Given the description of an element on the screen output the (x, y) to click on. 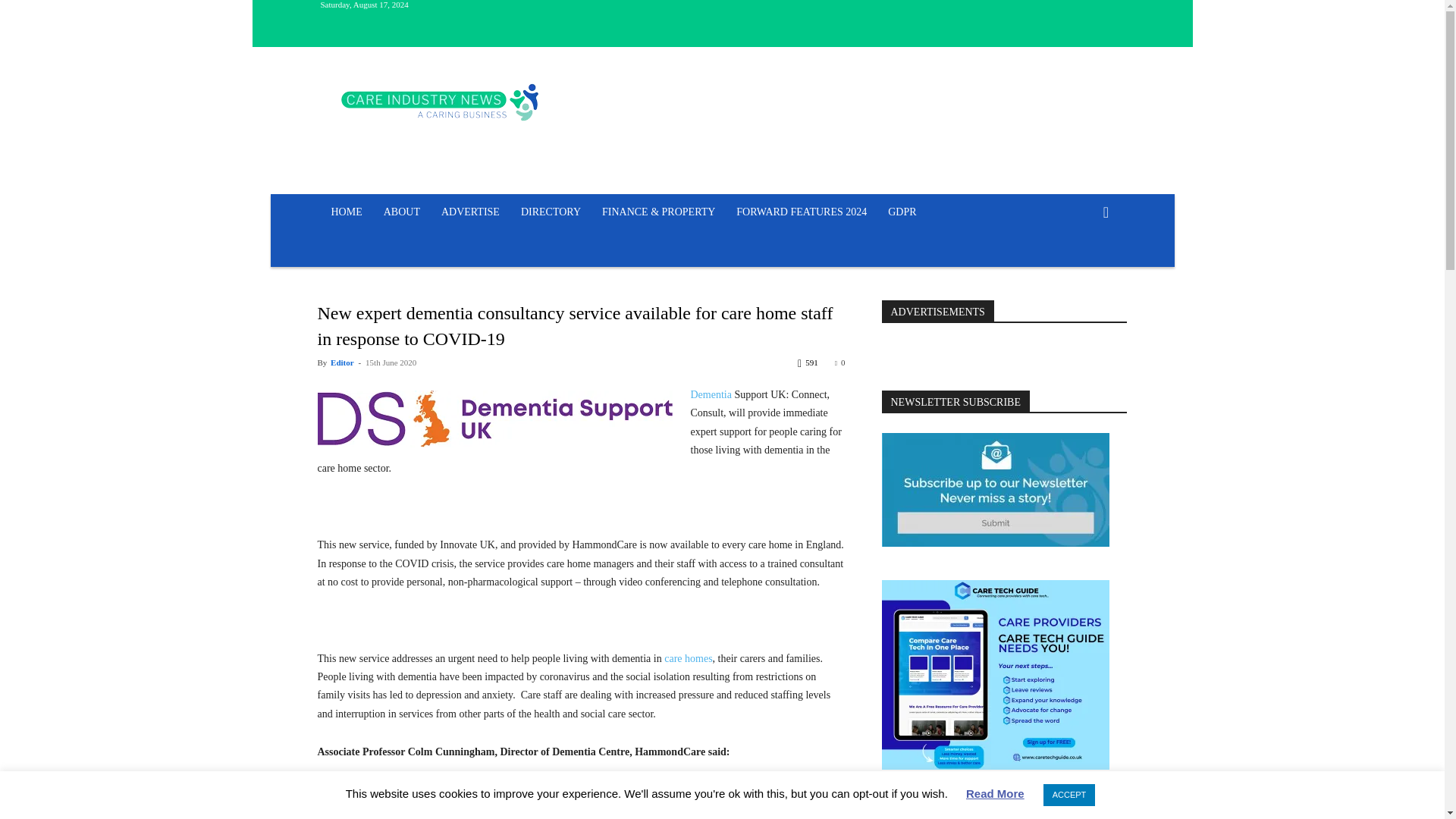
HOME (346, 212)
ADVERTISE (470, 212)
Editor (341, 361)
care homes (687, 658)
DIRECTORY (551, 212)
ABOUT (401, 212)
GDPR (901, 212)
0 (839, 361)
Care Industry News (439, 101)
FORWARD FEATURES 2024 (801, 212)
